Given the description of an element on the screen output the (x, y) to click on. 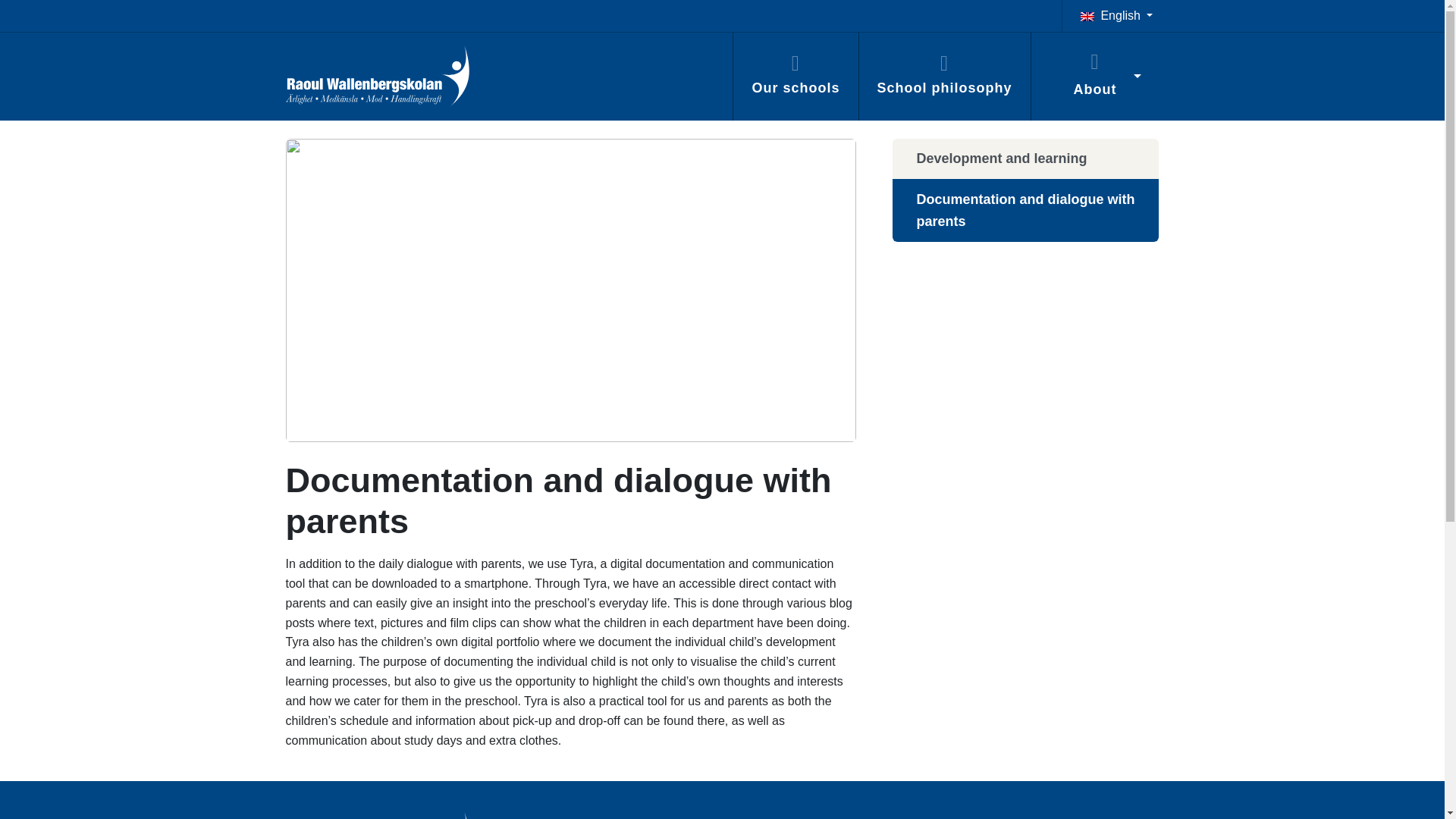
Our schools (794, 76)
Our schools (794, 76)
School philosophy (944, 76)
School philosophy (944, 76)
English (1110, 15)
